Given the description of an element on the screen output the (x, y) to click on. 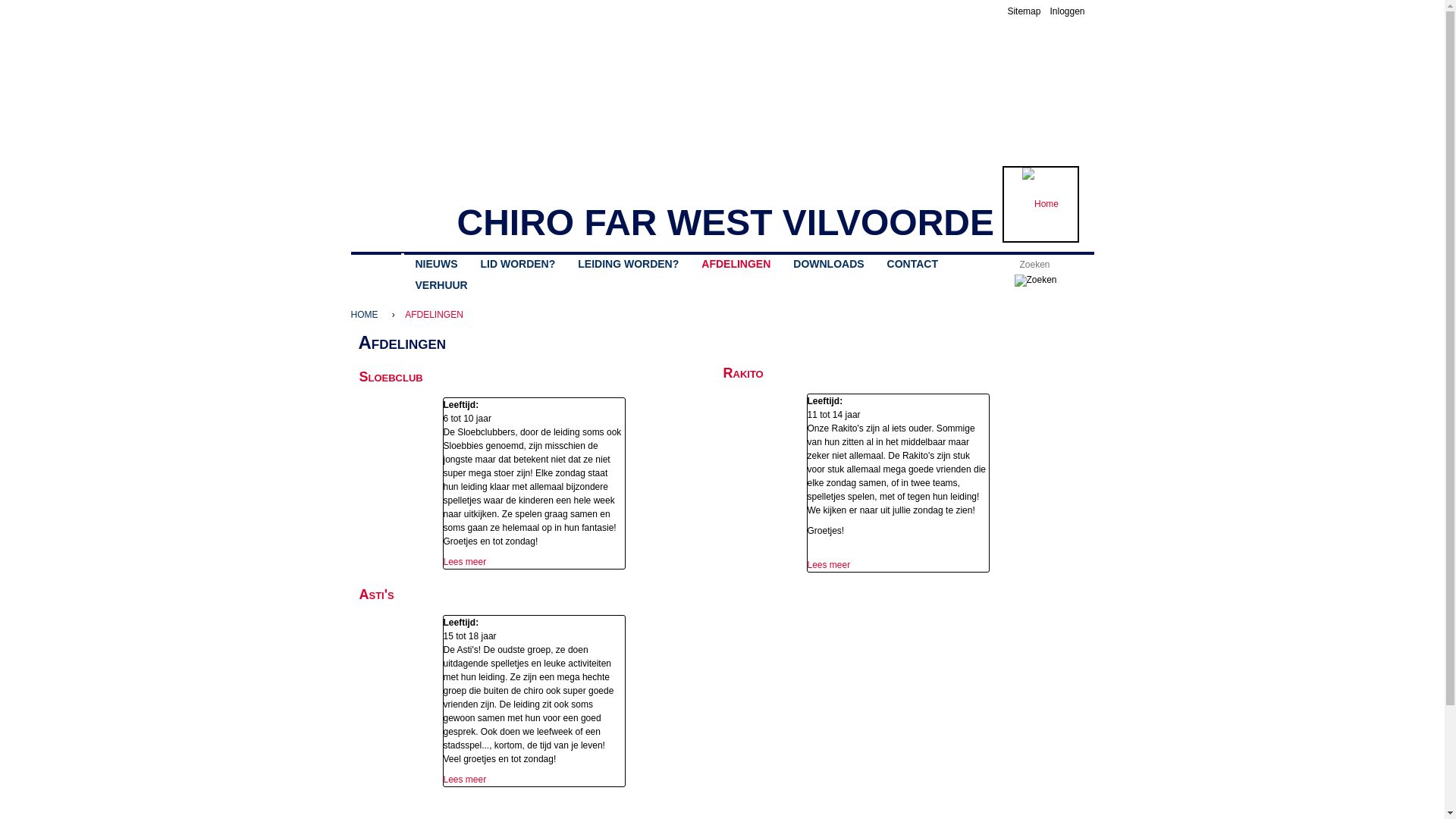
AFDELINGEN Element type: text (735, 263)
Sitemap Element type: text (1023, 11)
Geef de woorden op waarnaar u wilt zoeken. Element type: hover (1043, 264)
Home Element type: hover (401, 202)
NIEUWS Element type: text (435, 263)
Asti's Element type: text (376, 594)
Jump to navigation Element type: text (722, 2)
Lees meer Element type: text (828, 564)
HOME Element type: text (367, 314)
CONTACT Element type: text (912, 263)
Lees meer Element type: text (464, 561)
LID WORDEN? Element type: text (517, 263)
Home Element type: hover (1040, 204)
Lees meer Element type: text (464, 779)
OVER ONS Element type: text (375, 259)
CHIRO FAR WEST VILVOORDE Element type: text (724, 222)
Sloebclub Element type: text (391, 375)
VERHUUR Element type: text (440, 284)
LEIDING WORDEN? Element type: text (628, 263)
Inloggen Element type: text (1066, 11)
Rakito Element type: text (743, 372)
DOWNLOADS Element type: text (828, 263)
